Given the description of an element on the screen output the (x, y) to click on. 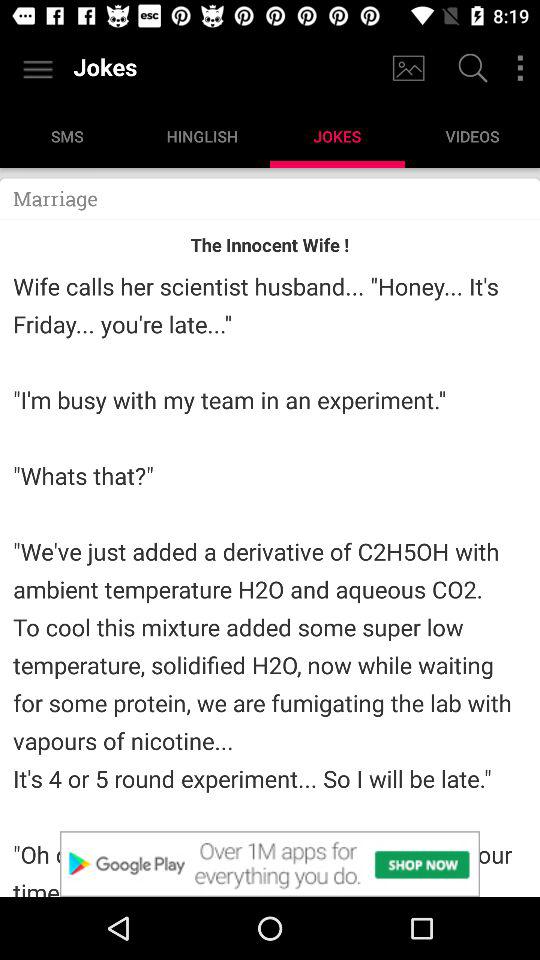
picture view (408, 67)
